Given the description of an element on the screen output the (x, y) to click on. 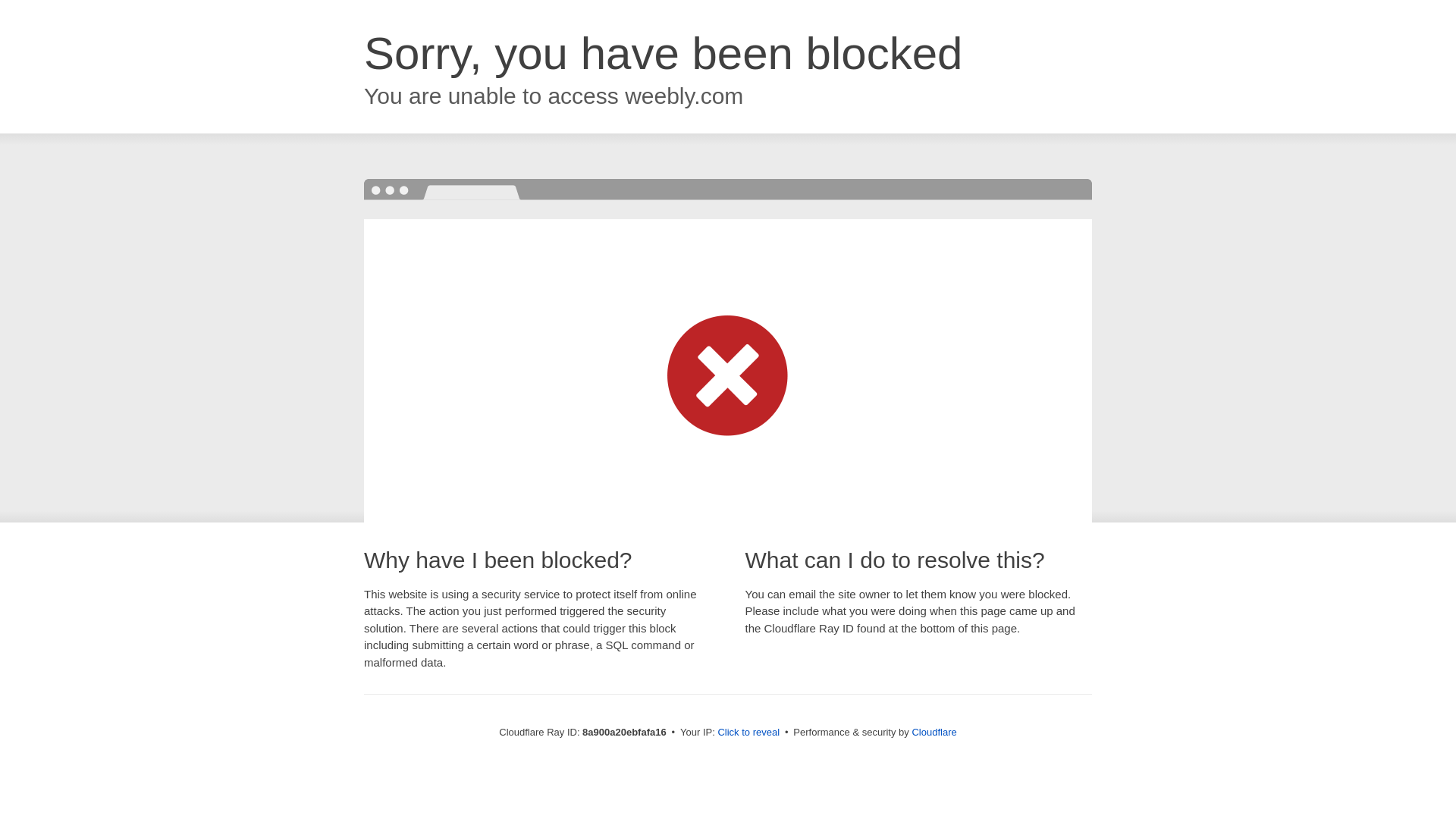
Click to reveal (747, 732)
Cloudflare (933, 731)
